Given the description of an element on the screen output the (x, y) to click on. 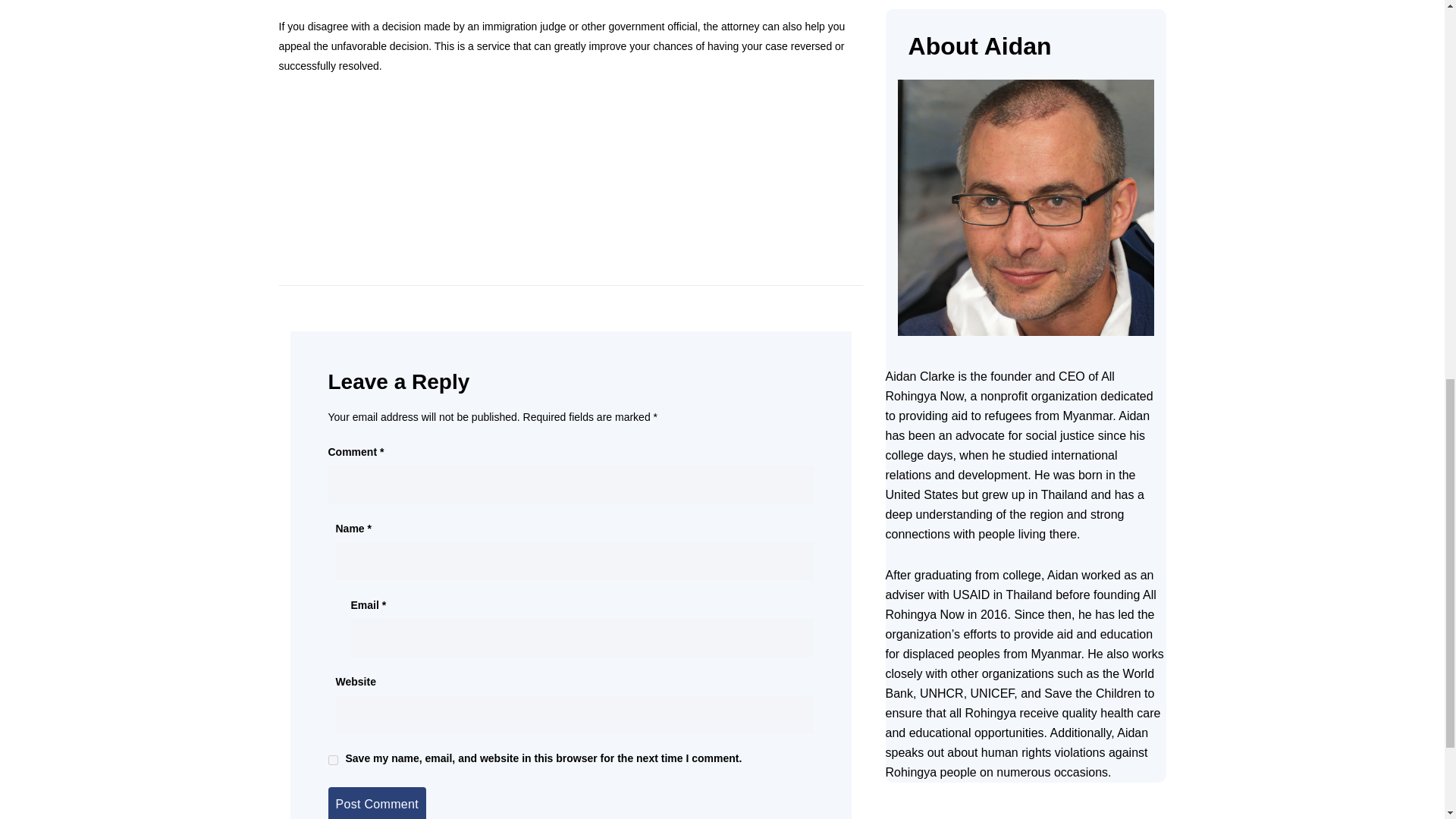
Post Comment (376, 803)
Post Comment (376, 803)
yes (332, 759)
